Given the description of an element on the screen output the (x, y) to click on. 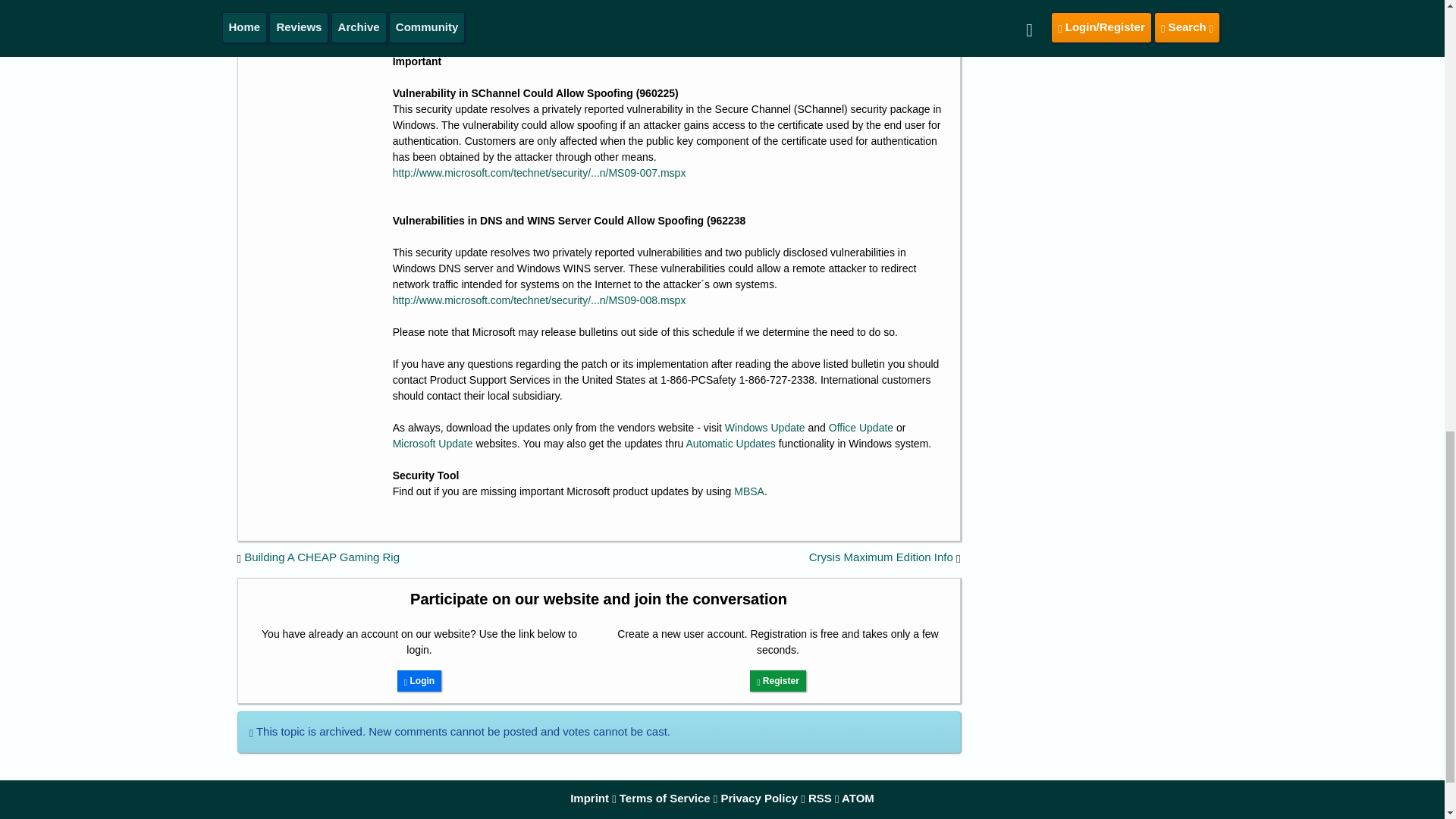
Automatic Updates (729, 443)
Register (777, 680)
Windows Update (765, 427)
Microsoft Update (433, 443)
Office Update (860, 427)
Register (777, 680)
MBSA (748, 491)
Crysis Maximum Edition Info (881, 556)
Login (419, 680)
Login (419, 680)
Building A CHEAP Gaming Rig (321, 556)
